Given the description of an element on the screen output the (x, y) to click on. 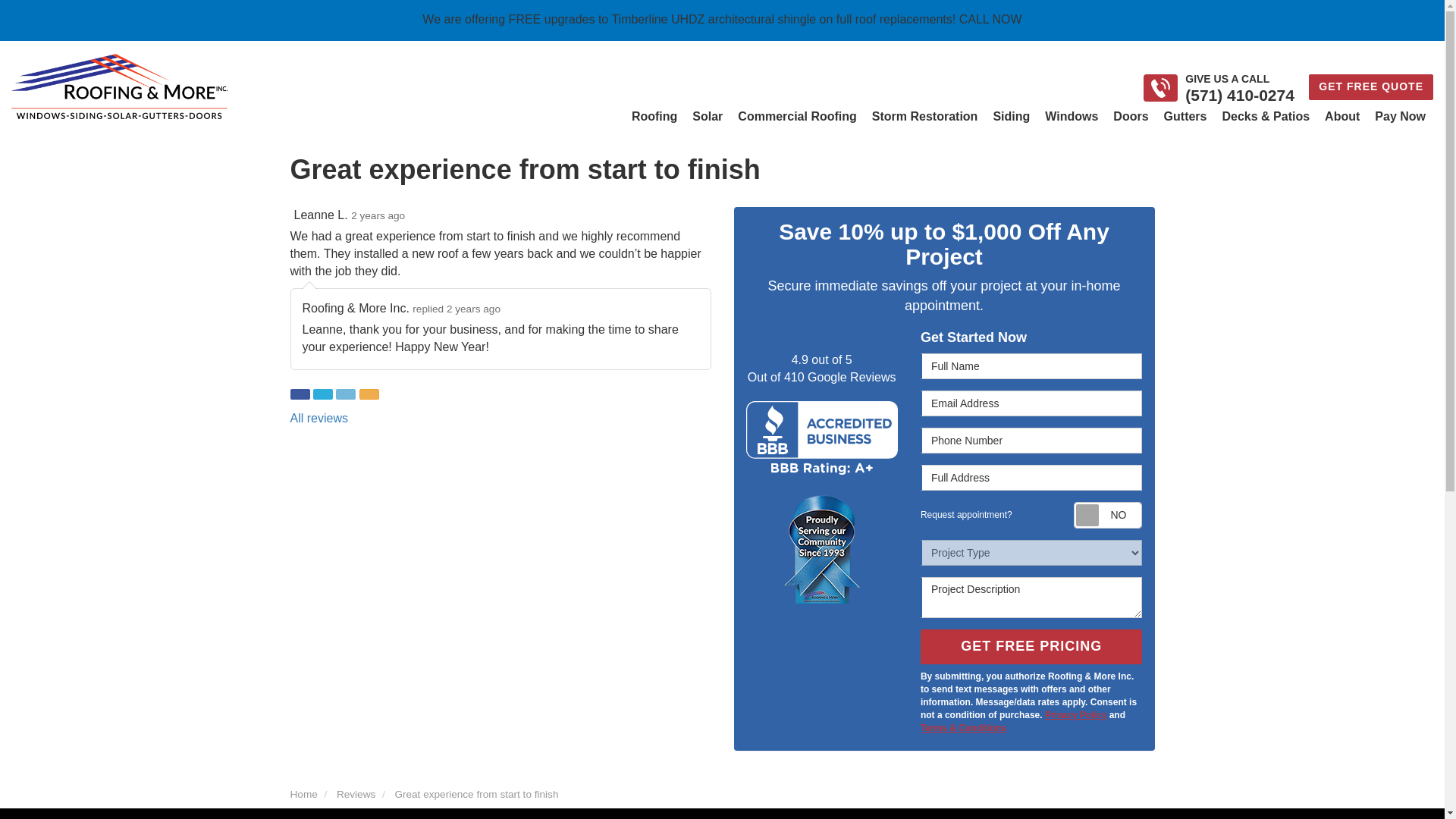
Doors (1130, 116)
GET FREE QUOTE (1370, 86)
Solar (707, 116)
Storm Restoration (924, 116)
Siding (1010, 116)
GET FREE QUOTE (1370, 86)
Gutters (1185, 116)
Roofing (654, 116)
Windows (1070, 116)
Commercial Roofing (796, 116)
